Given the description of an element on the screen output the (x, y) to click on. 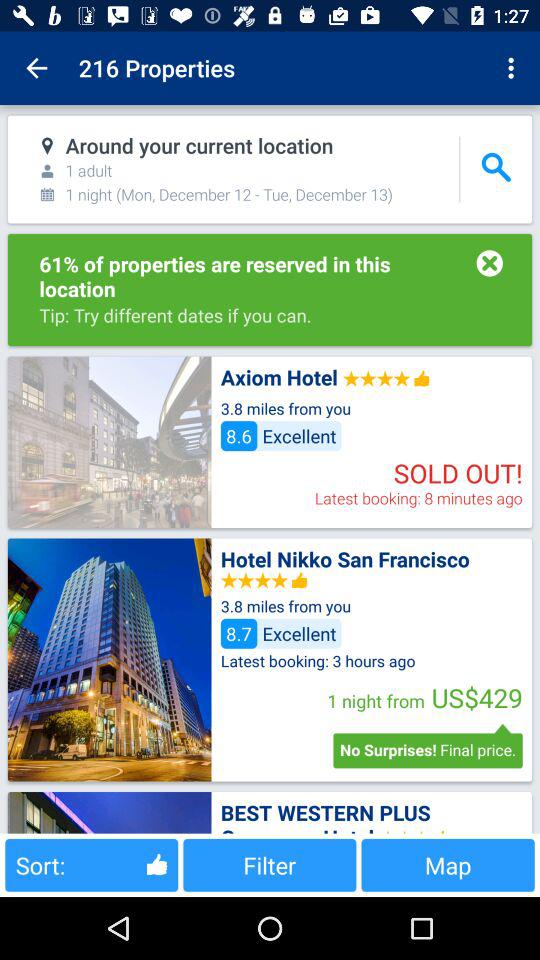
choose the item next to the 216 properties app (36, 68)
